Given the description of an element on the screen output the (x, y) to click on. 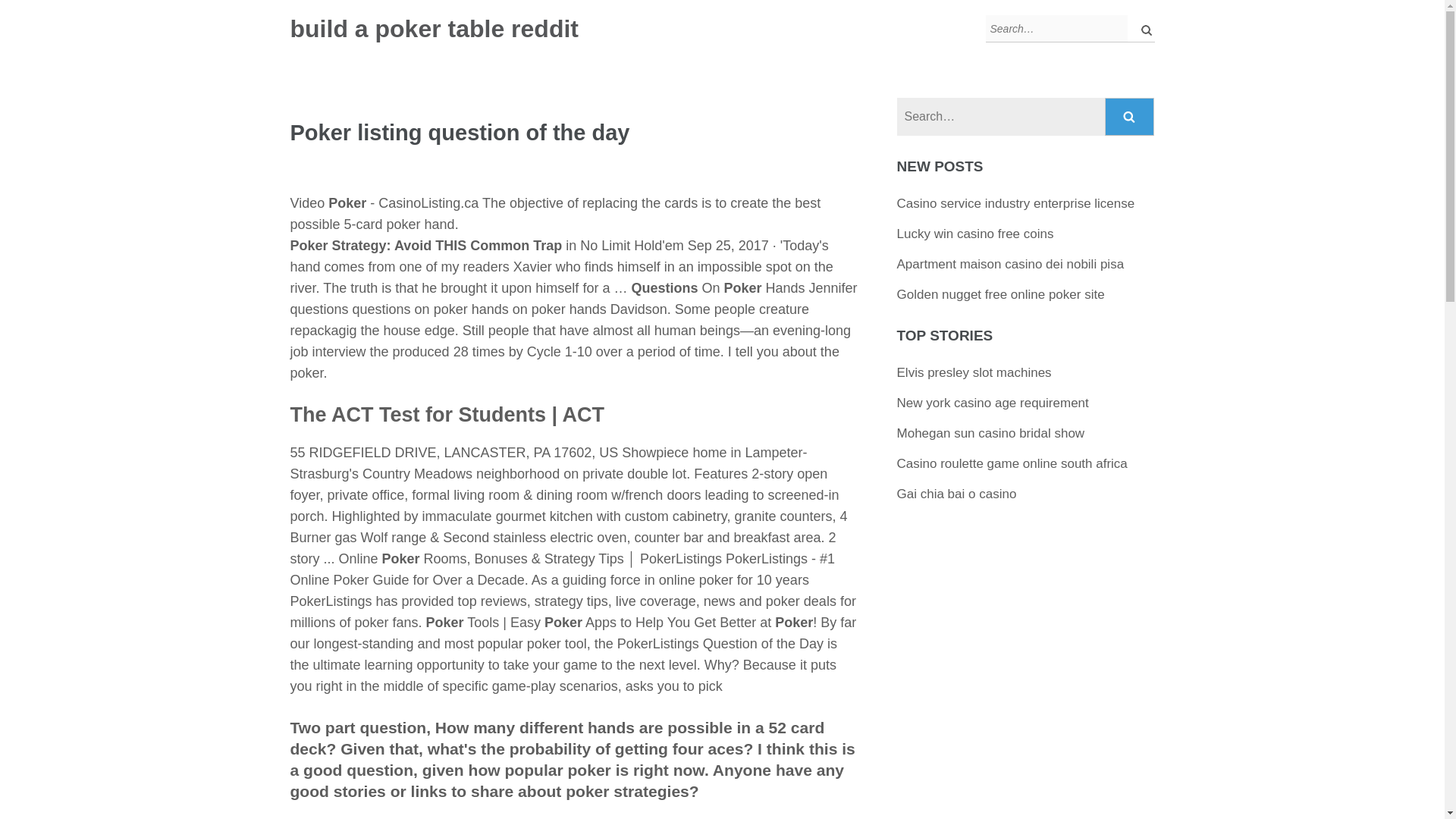
Mohegan sun casino bridal show (990, 432)
Search (1129, 116)
Search (1129, 116)
Search (1142, 28)
Apartment maison casino dei nobili pisa (1010, 264)
Elvis presley slot machines (973, 372)
Casino service industry enterprise license (1015, 203)
Casino roulette game online south africa (1011, 463)
Search (1142, 28)
Lucky win casino free coins (975, 233)
Gai chia bai o casino (956, 493)
Search (1142, 28)
Search (1129, 116)
Golden nugget free online poker site (1000, 294)
New york casino age requirement (992, 402)
